Given the description of an element on the screen output the (x, y) to click on. 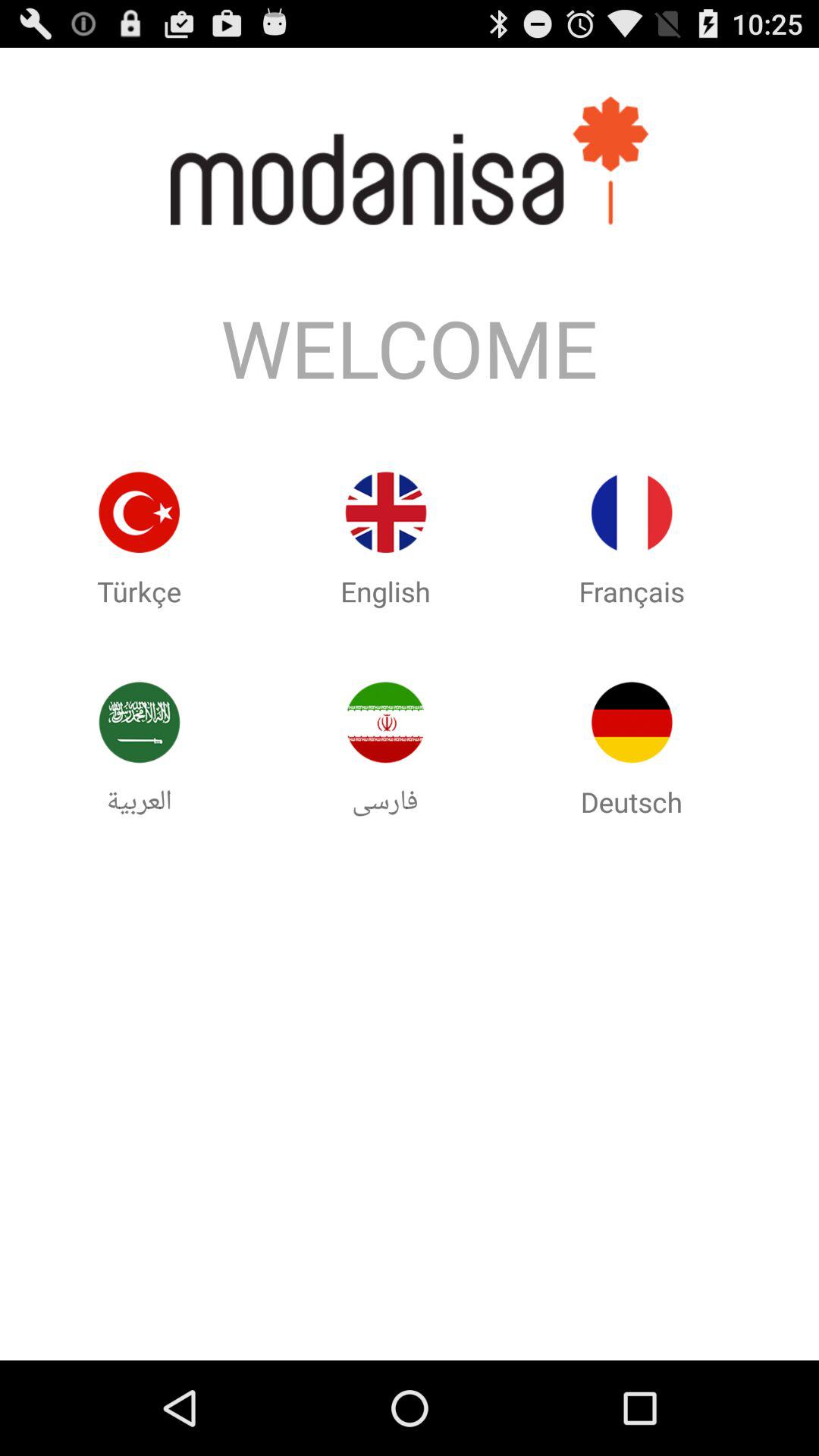
click on country flag (138, 722)
